Given the description of an element on the screen output the (x, y) to click on. 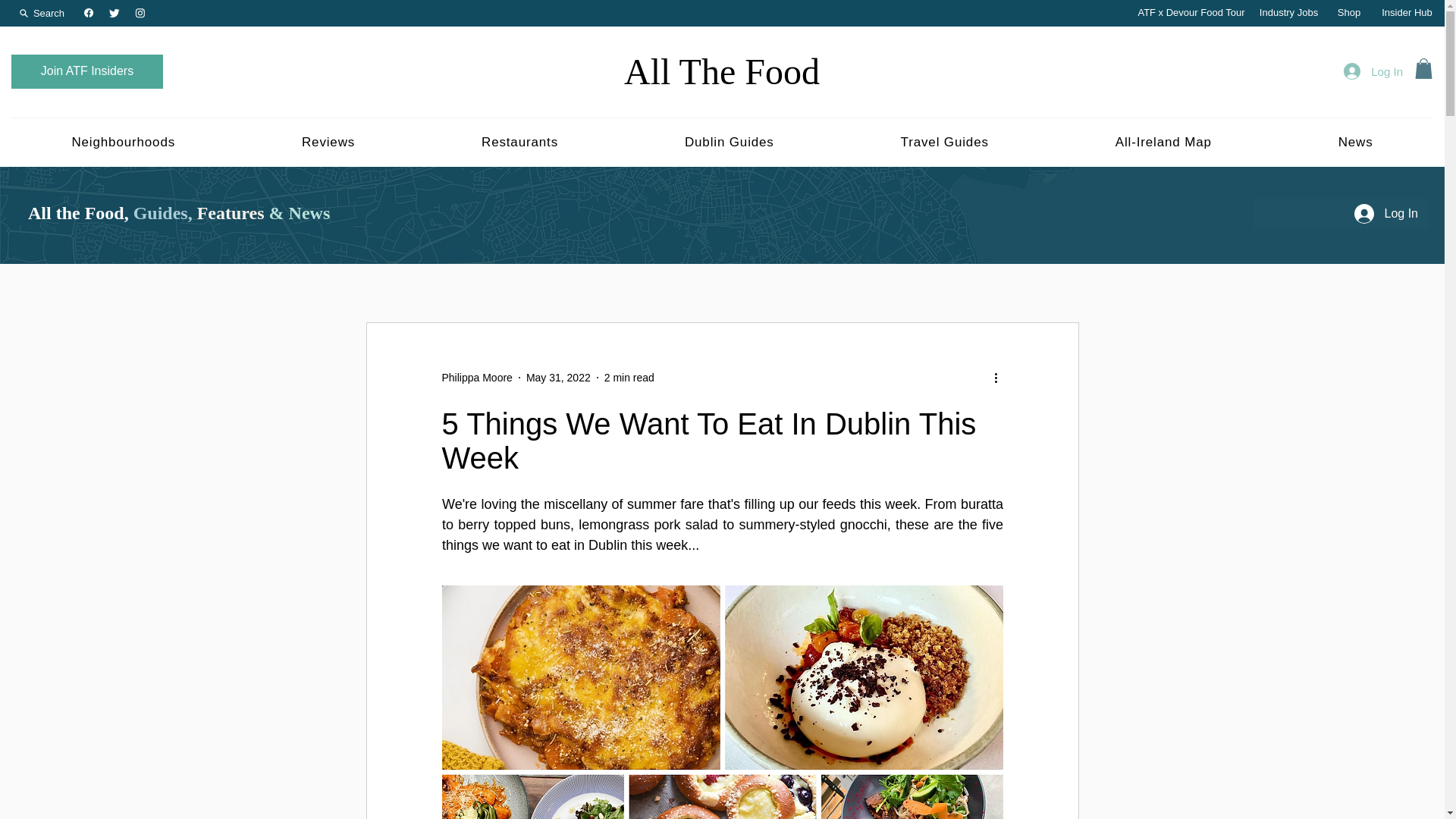
2 min read (628, 377)
May 31, 2022 (558, 377)
All The Food (721, 71)
Insider Hub (1407, 12)
ATF x Devour Food Tour (1191, 12)
Log In (1373, 71)
Join ATF Insiders (87, 71)
Industry Jobs (1288, 12)
Search (42, 12)
Neighbourhoods (123, 141)
Philippa Moore (476, 377)
Shop (1348, 12)
